Given the description of an element on the screen output the (x, y) to click on. 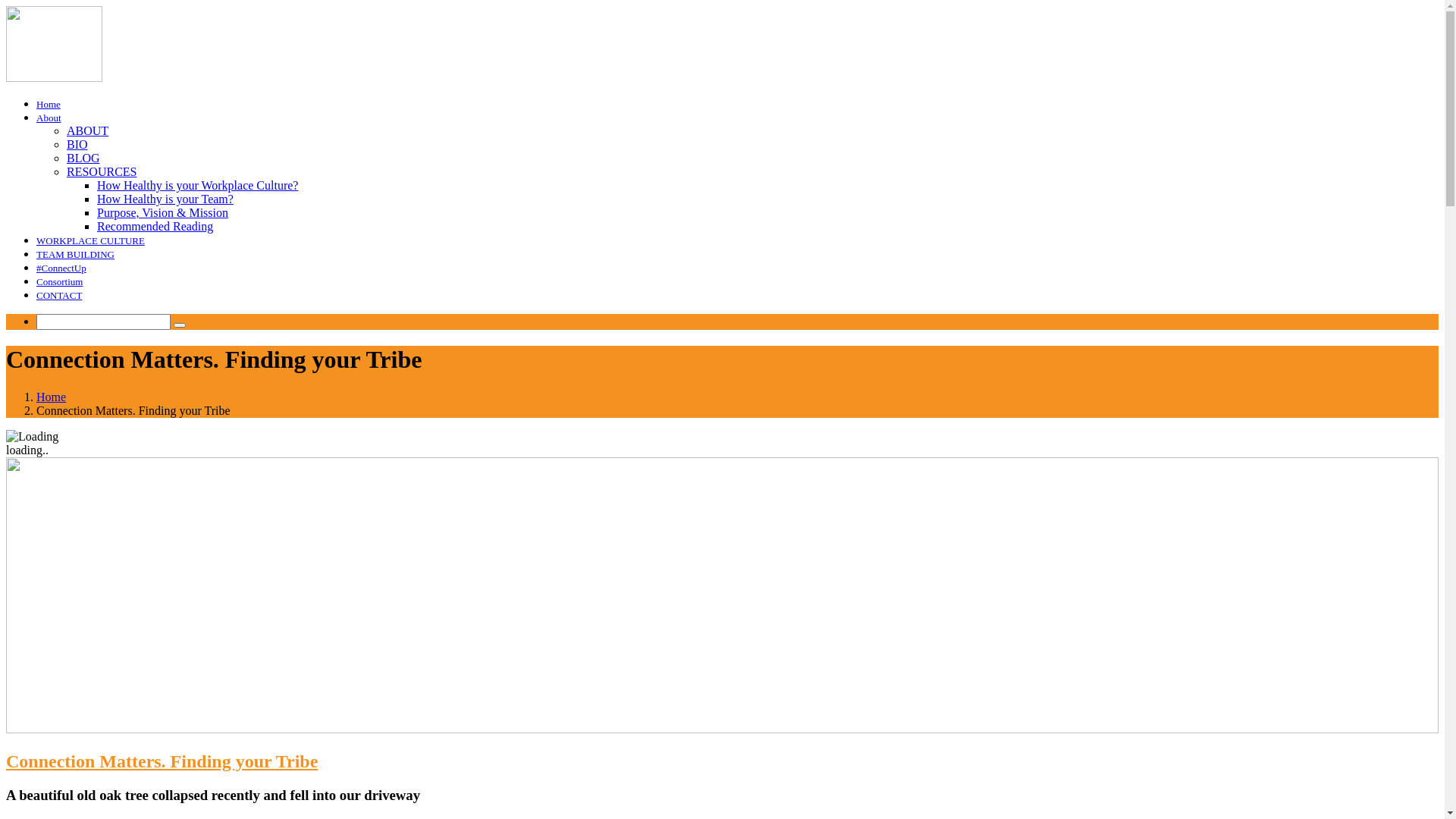
Consortium Element type: text (59, 281)
Recommended Reading Element type: text (155, 225)
How Healthy is your Workplace Culture? Element type: text (197, 184)
BLOG Element type: text (83, 157)
WORKPLACE CULTURE Element type: text (90, 240)
How Healthy is your Team? Element type: text (165, 198)
TEAM BUILDING Element type: text (75, 254)
About Element type: text (48, 117)
Home Element type: text (48, 103)
#ConnectUp Element type: text (61, 267)
CONTACT Element type: text (58, 295)
BIO Element type: text (76, 144)
RESOURCES Element type: text (101, 171)
Purpose, Vision & Mission Element type: text (162, 212)
Home Element type: text (50, 396)
Connection Matters. Finding your Tribe Element type: text (161, 761)
ABOUT Element type: text (87, 130)
